Given the description of an element on the screen output the (x, y) to click on. 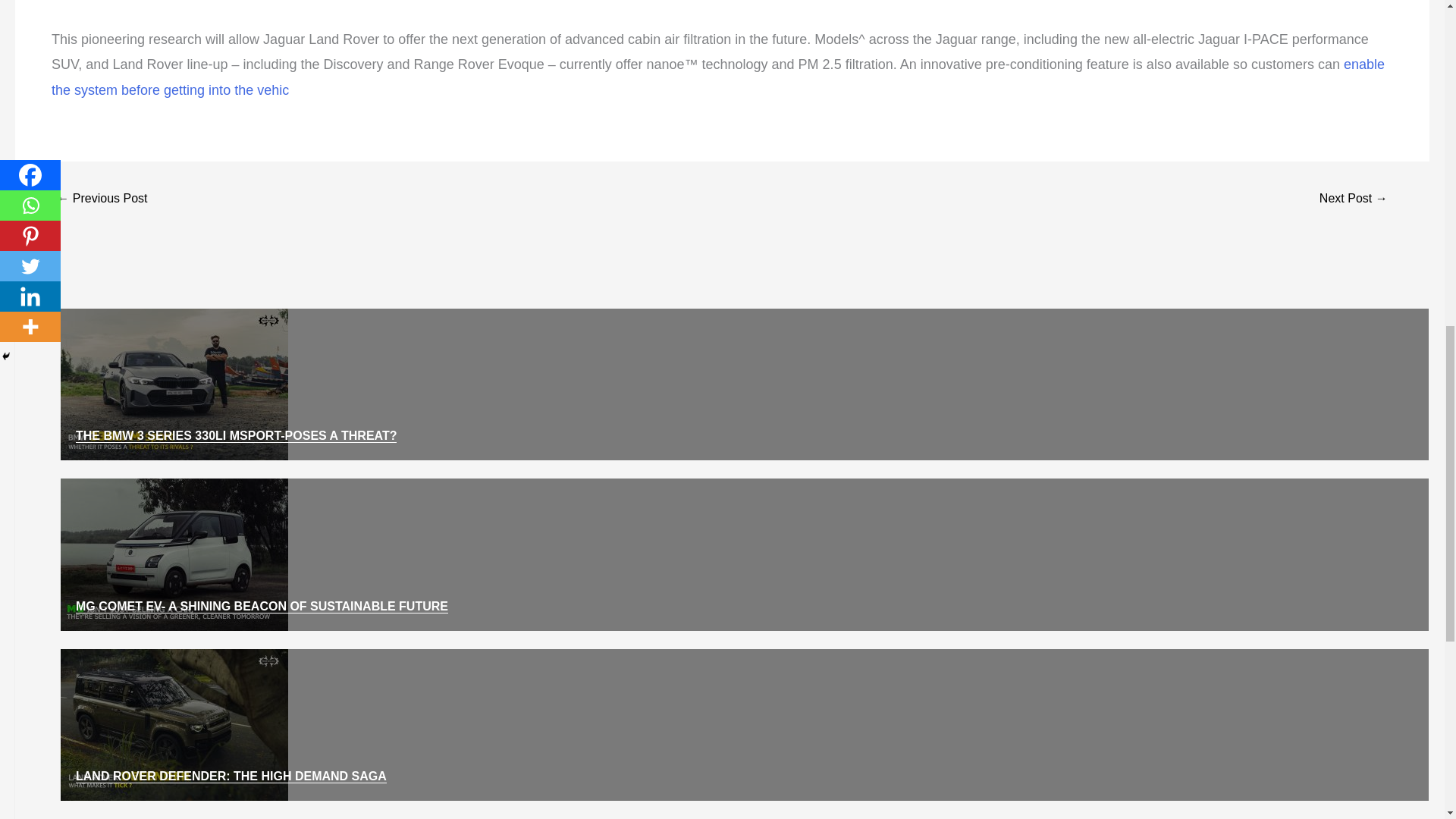
LAND ROVER DEFENDER: THE HIGH DEMAND SAGA (231, 775)
MG COMET EV- A SHINING BEACON OF SUSTAINABLE FUTURE (261, 606)
THE BMW 3 SERIES 330LI MSPORT-POSES A THREAT? (235, 436)
enable the system before getting into the vehic (717, 76)
